Given the description of an element on the screen output the (x, y) to click on. 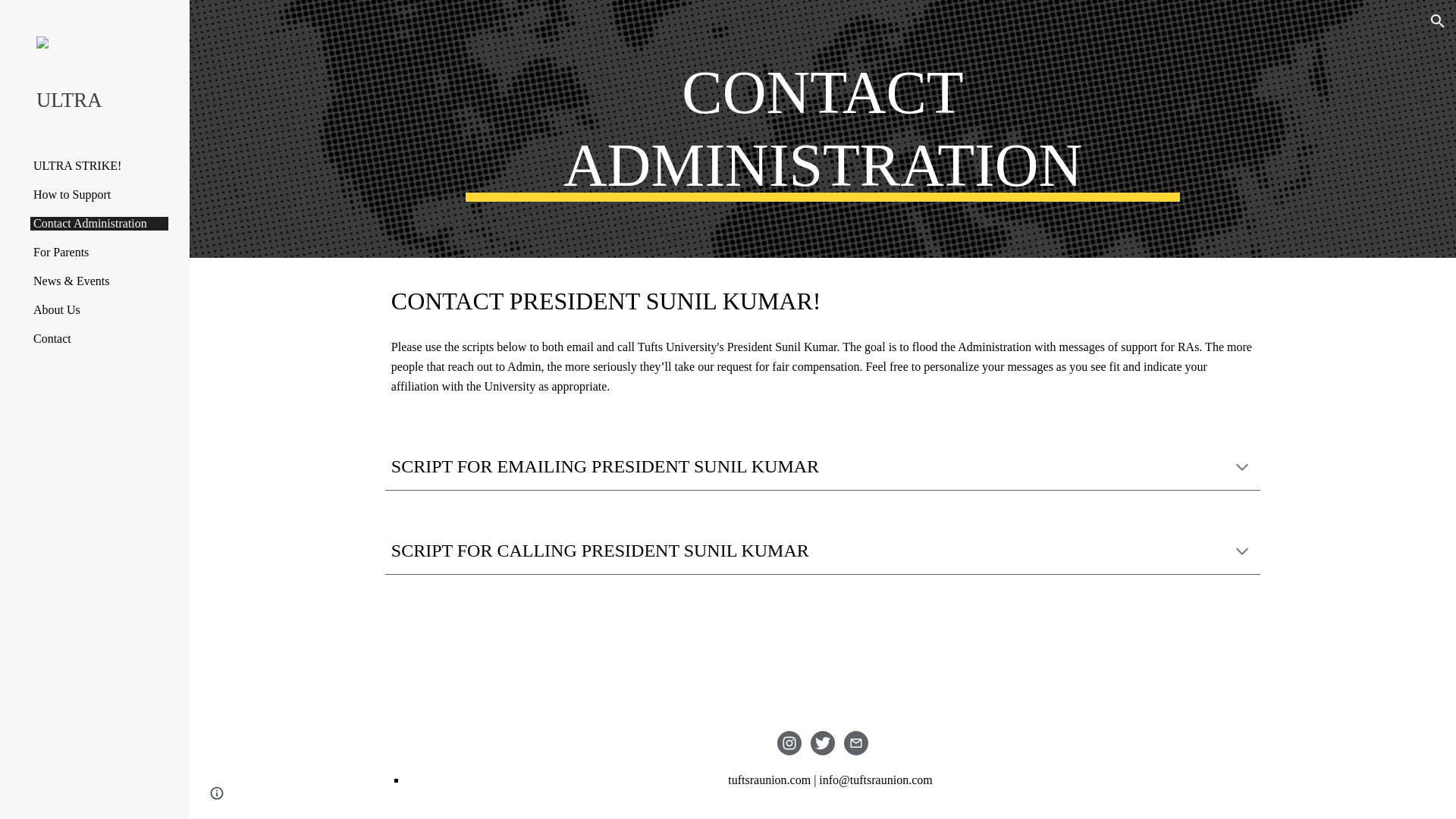
Contact Administration (99, 223)
Contact (99, 338)
About Us (99, 309)
ULTRA STRIKE! (99, 165)
For Parents (99, 252)
How to Support (99, 194)
ULTRA (100, 99)
